Given the description of an element on the screen output the (x, y) to click on. 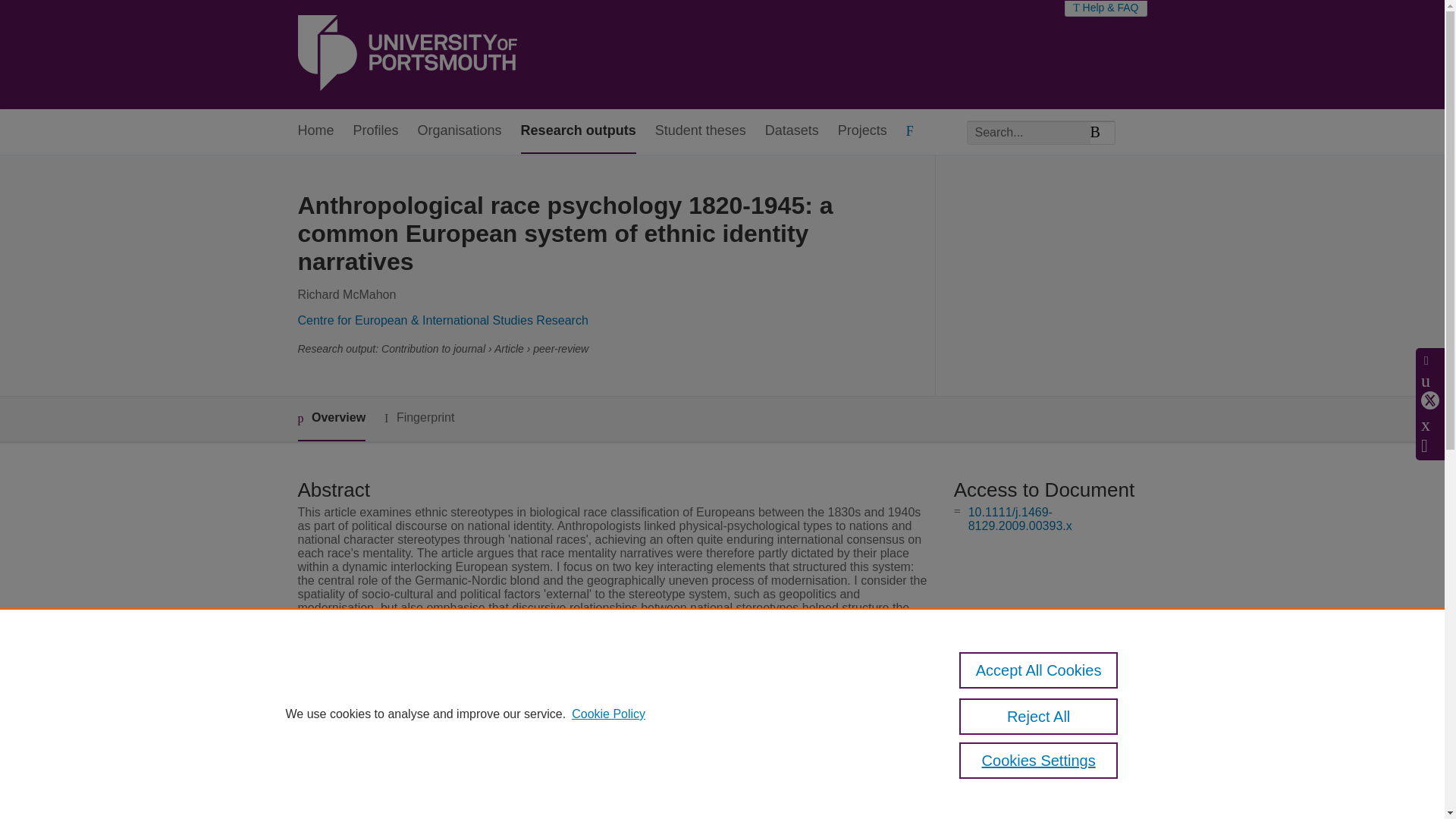
Profiles (375, 130)
Fingerprint (419, 417)
Datasets (791, 130)
University of Portsmouth Home (406, 54)
Student theses (700, 130)
Organisations (459, 130)
Overview (331, 418)
Projects (862, 130)
Research outputs (578, 130)
